Given the description of an element on the screen output the (x, y) to click on. 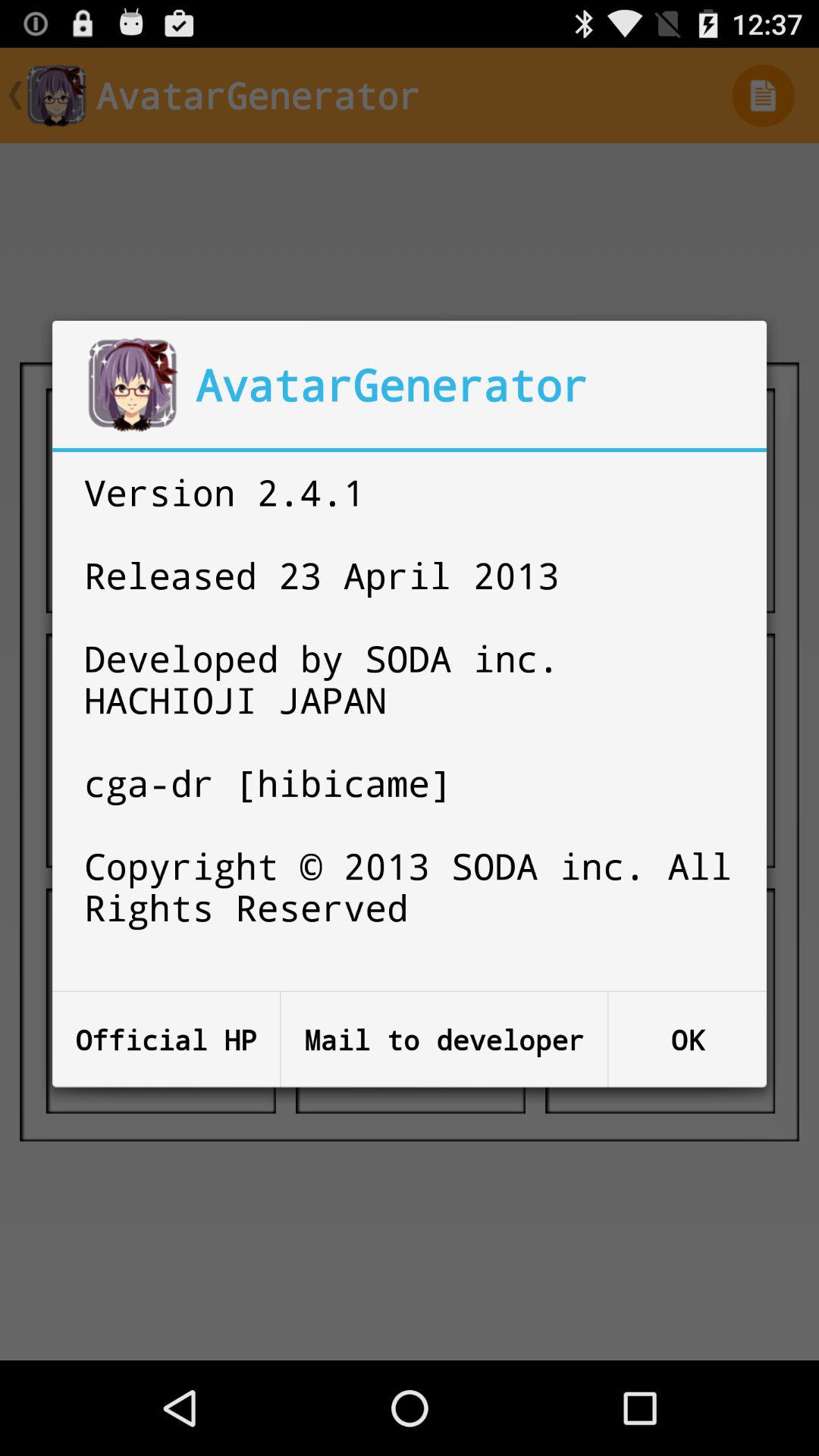
open the item to the right of the official hp button (443, 1039)
